Given the description of an element on the screen output the (x, y) to click on. 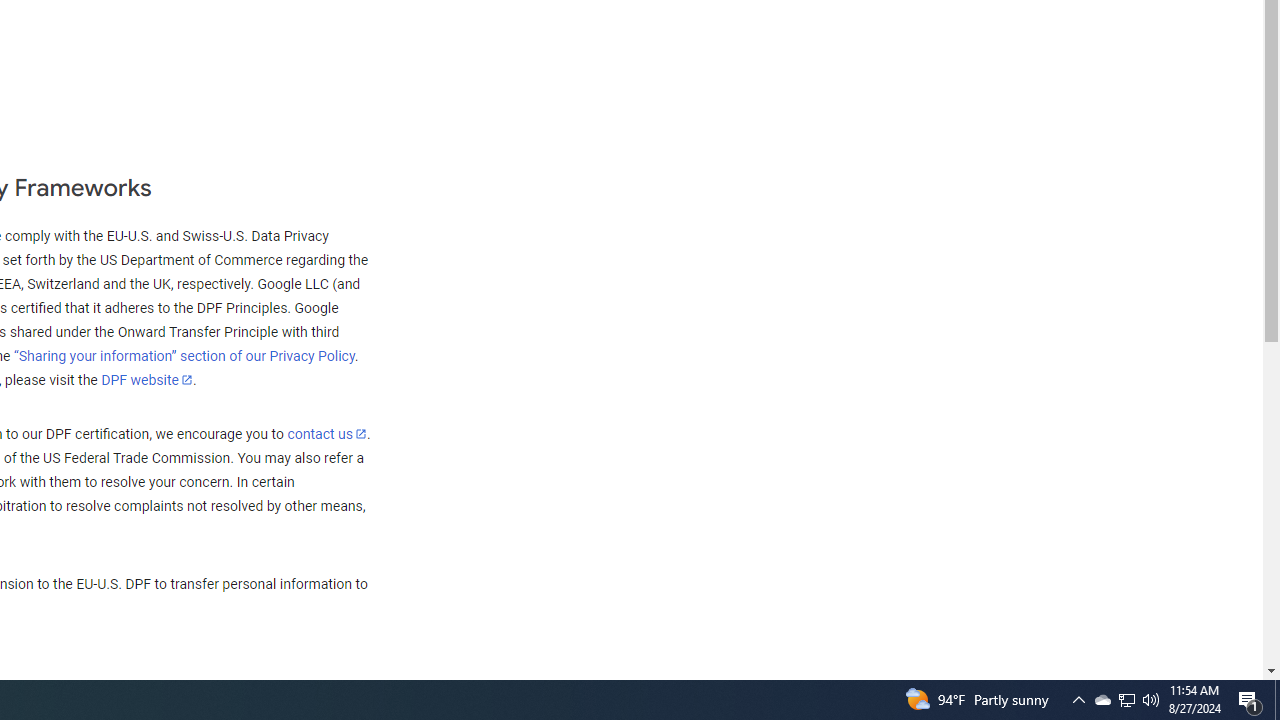
contact us (326, 433)
DPF website (147, 379)
